Given the description of an element on the screen output the (x, y) to click on. 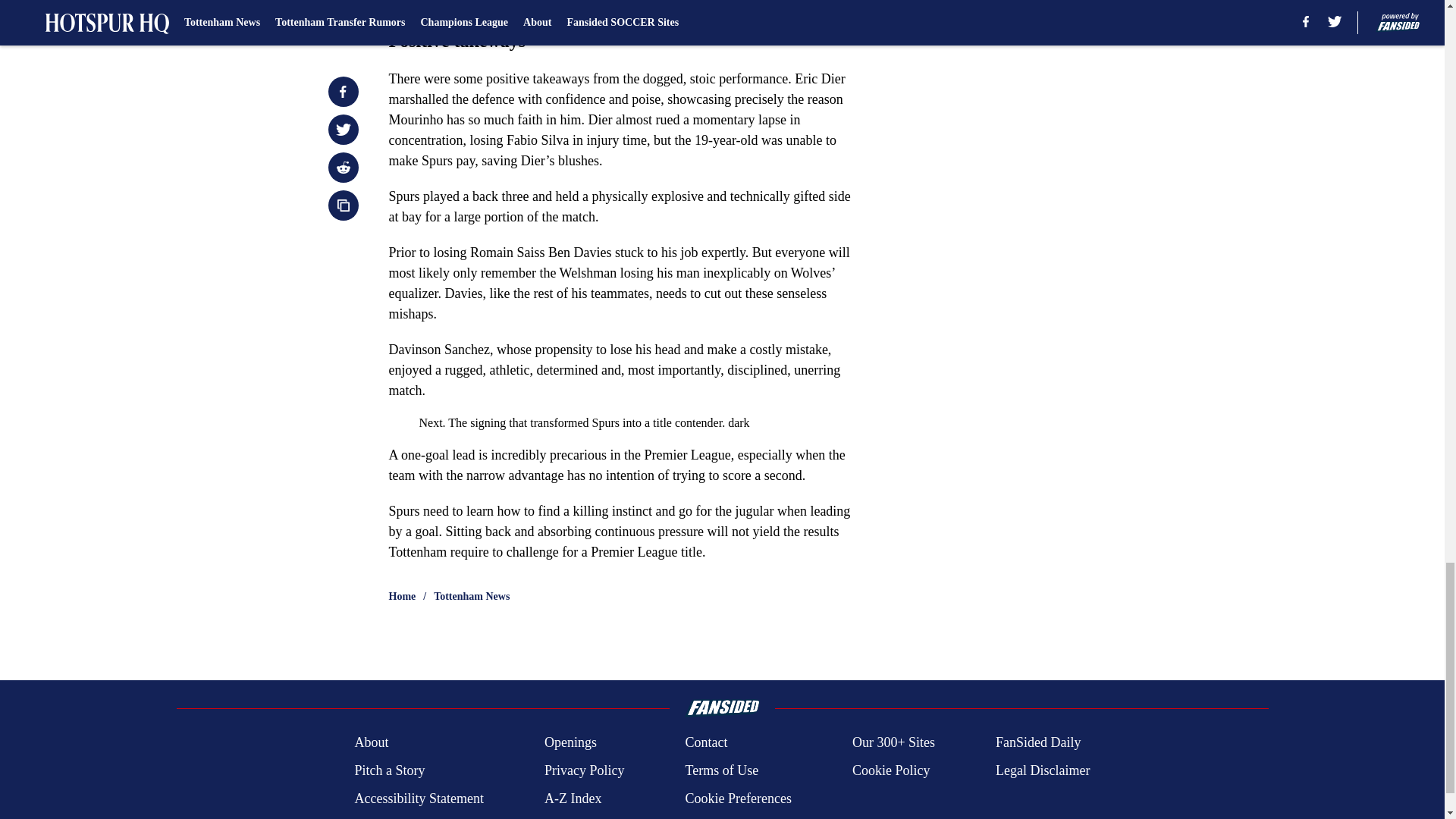
Privacy Policy (584, 770)
Legal Disclaimer (1042, 770)
Contact (705, 742)
FanSided Daily (1038, 742)
Home (401, 596)
Accessibility Statement (418, 798)
About (370, 742)
Cookie Policy (890, 770)
Cookie Preferences (737, 798)
A-Z Index (572, 798)
